Given the description of an element on the screen output the (x, y) to click on. 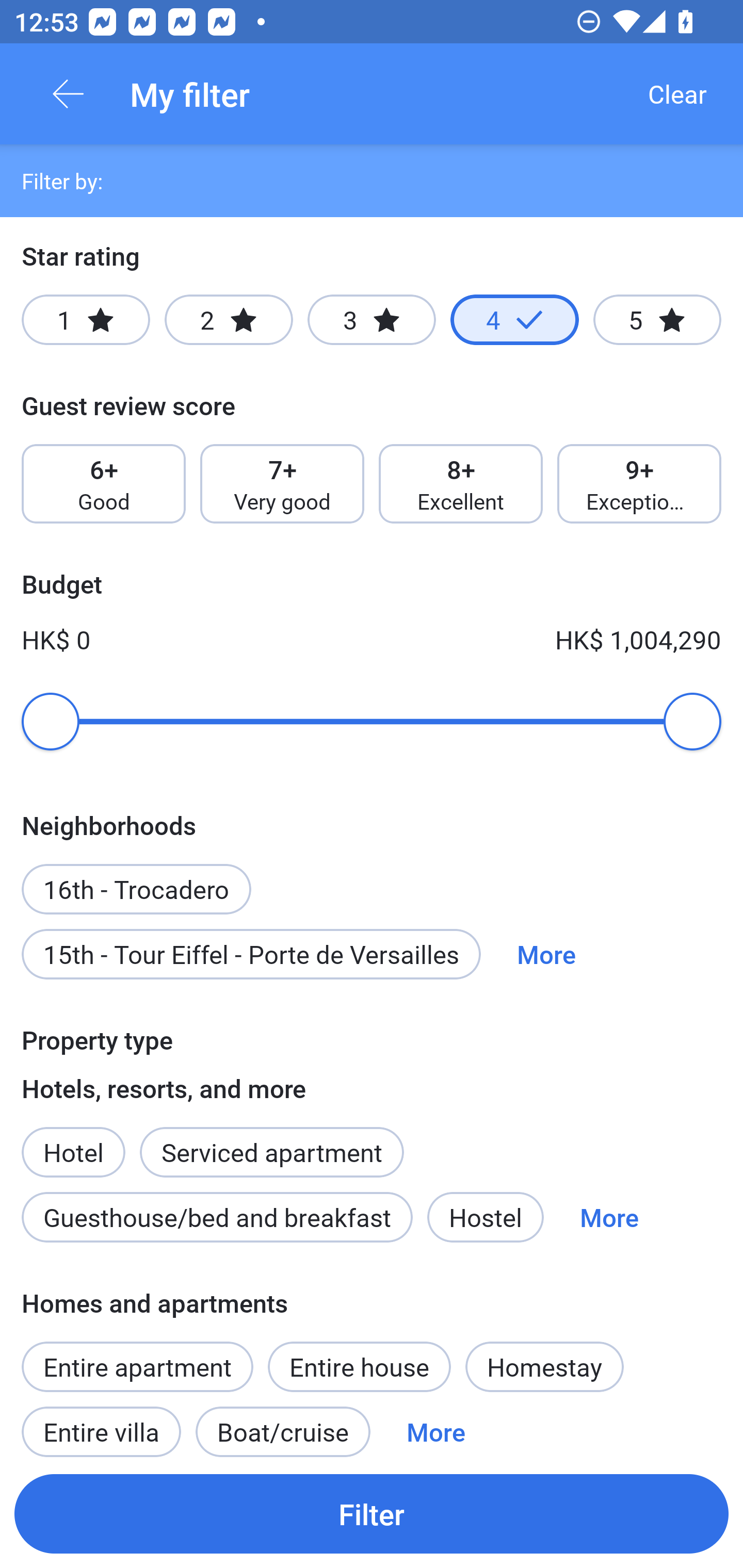
Clear (676, 93)
1 (85, 319)
2 (228, 319)
3 (371, 319)
5 (657, 319)
6+ Good (103, 483)
7+ Very good (281, 483)
8+ Excellent (460, 483)
9+ Exceptional (639, 483)
16th - Trocadero (136, 878)
15th - Tour Eiffel - Porte de Versailles (250, 954)
More (546, 954)
Hotel (73, 1141)
Serviced apartment (271, 1141)
Guesthouse/bed and breakfast (217, 1217)
Hostel (485, 1217)
More (608, 1217)
Entire apartment (137, 1366)
Entire house (359, 1366)
Homestay (544, 1366)
Entire villa (101, 1424)
Boat/cruise (282, 1424)
More (435, 1424)
Filter (371, 1513)
